Given the description of an element on the screen output the (x, y) to click on. 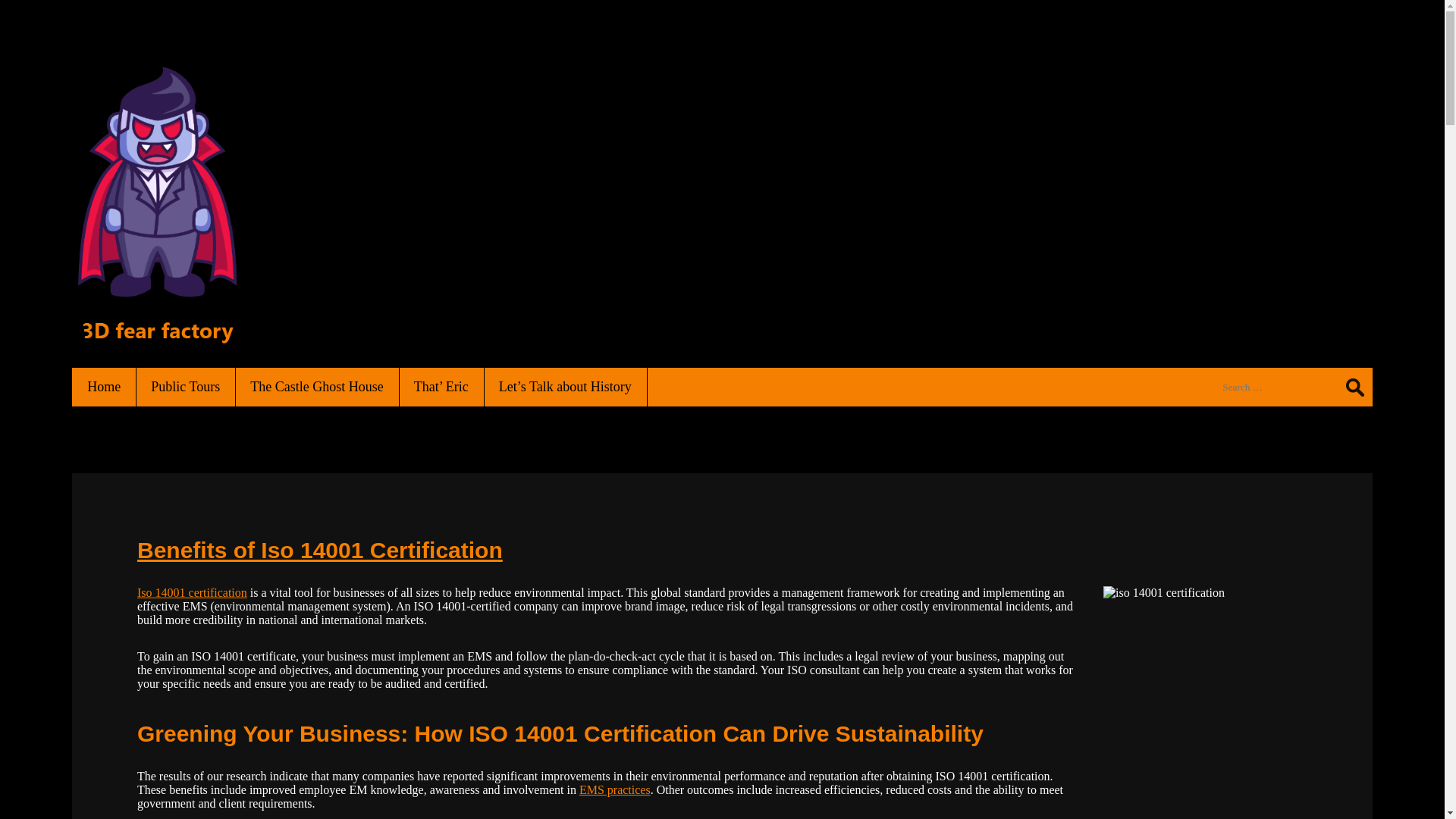
EMS practices Element type: text (614, 789)
The Castle Ghost House Element type: text (316, 386)
Iso 14001 certification Element type: text (192, 592)
Public Tours Element type: text (185, 386)
Benefits of Iso 14001 Certification Element type: text (319, 549)
3D fear factory Element type: text (156, 334)
Home Element type: text (104, 386)
